Given the description of an element on the screen output the (x, y) to click on. 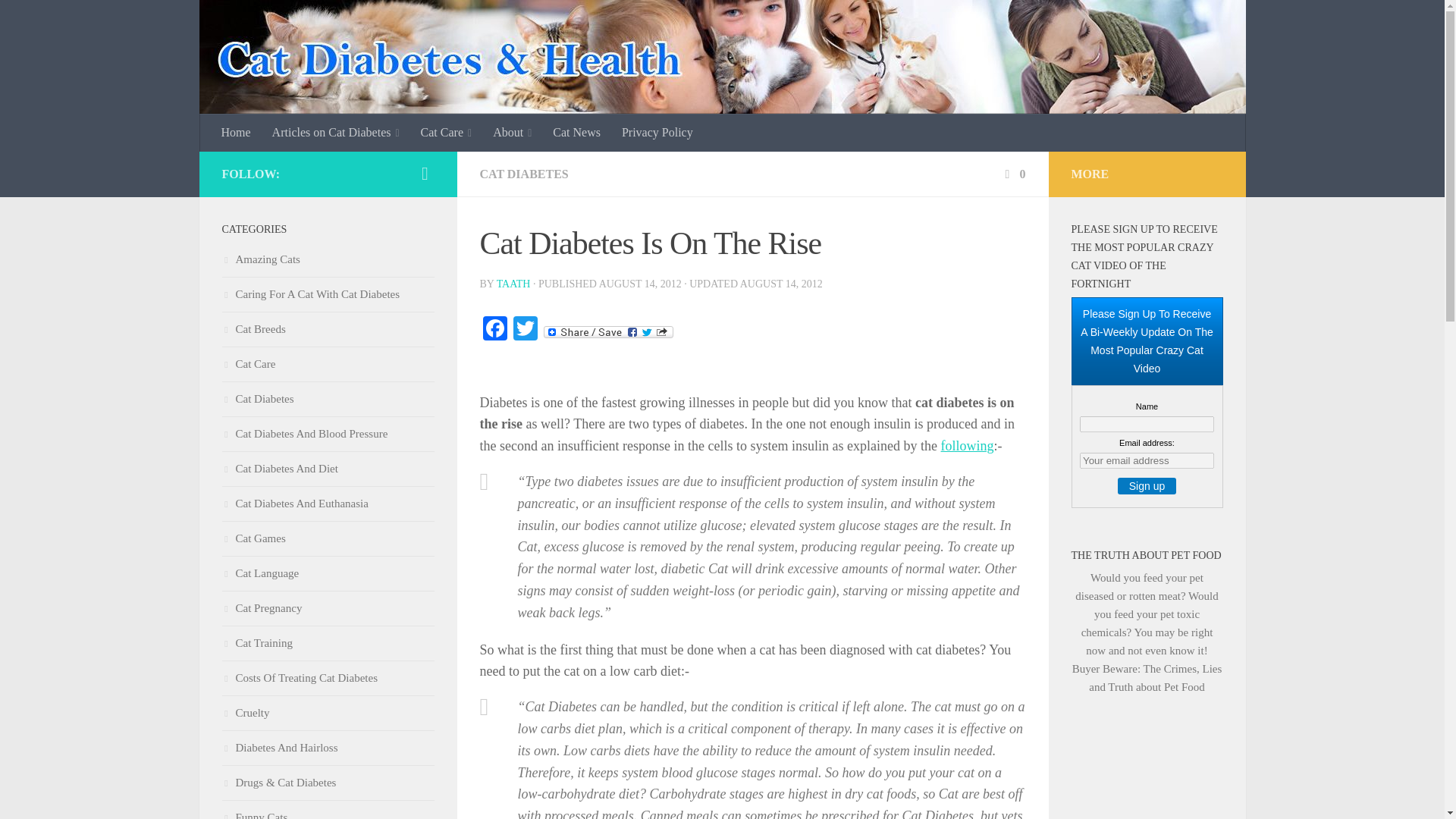
Follow us on Facebook (423, 173)
Twitter (524, 329)
Sign up (1147, 485)
Skip to content (59, 20)
Cat diabetes is on the rise (967, 445)
Facebook (494, 329)
Home (236, 132)
Articles on Cat Diabetes (336, 132)
Posts by Taath (513, 283)
